Given the description of an element on the screen output the (x, y) to click on. 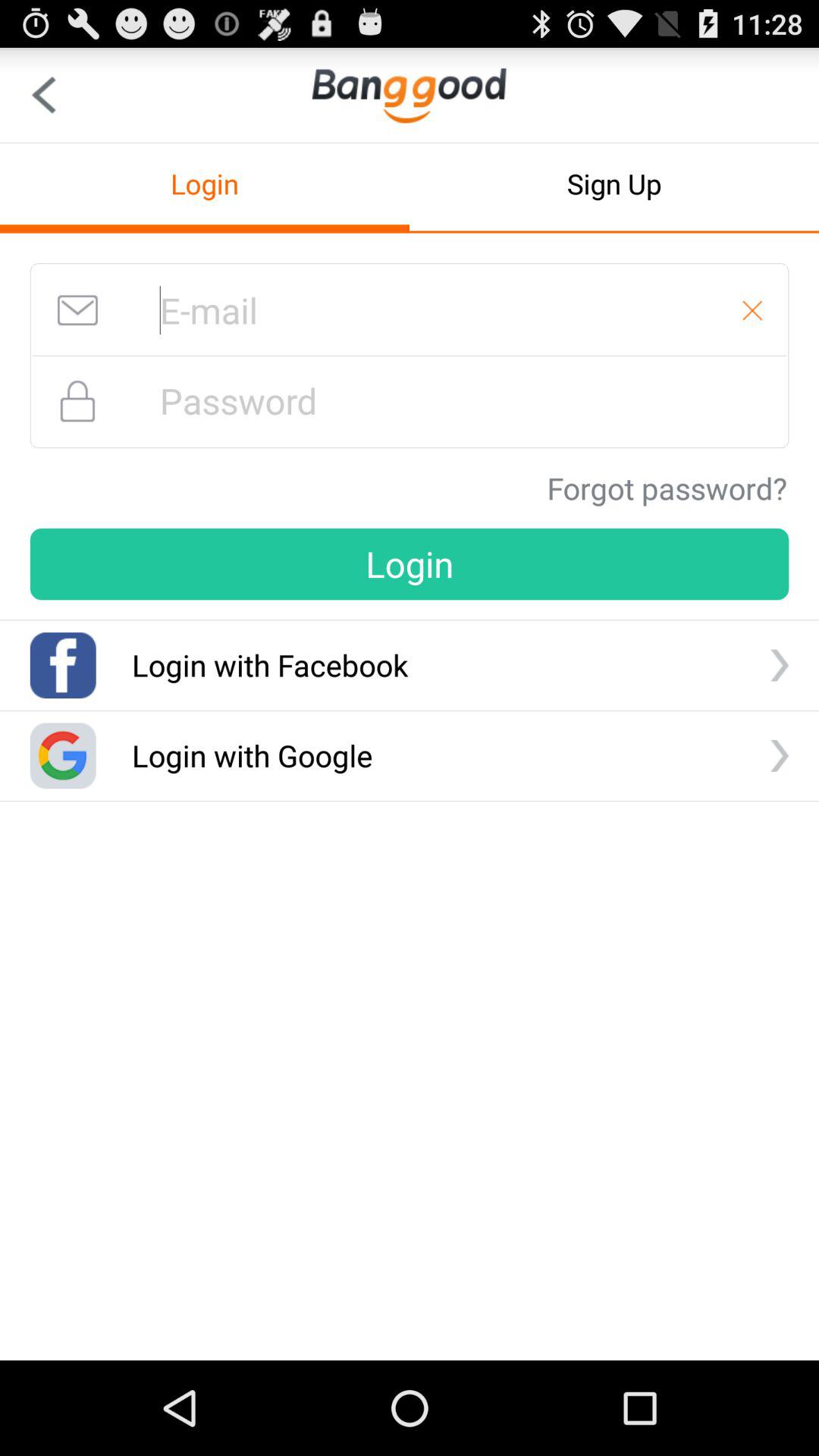
choose item next to the login icon (614, 183)
